Given the description of an element on the screen output the (x, y) to click on. 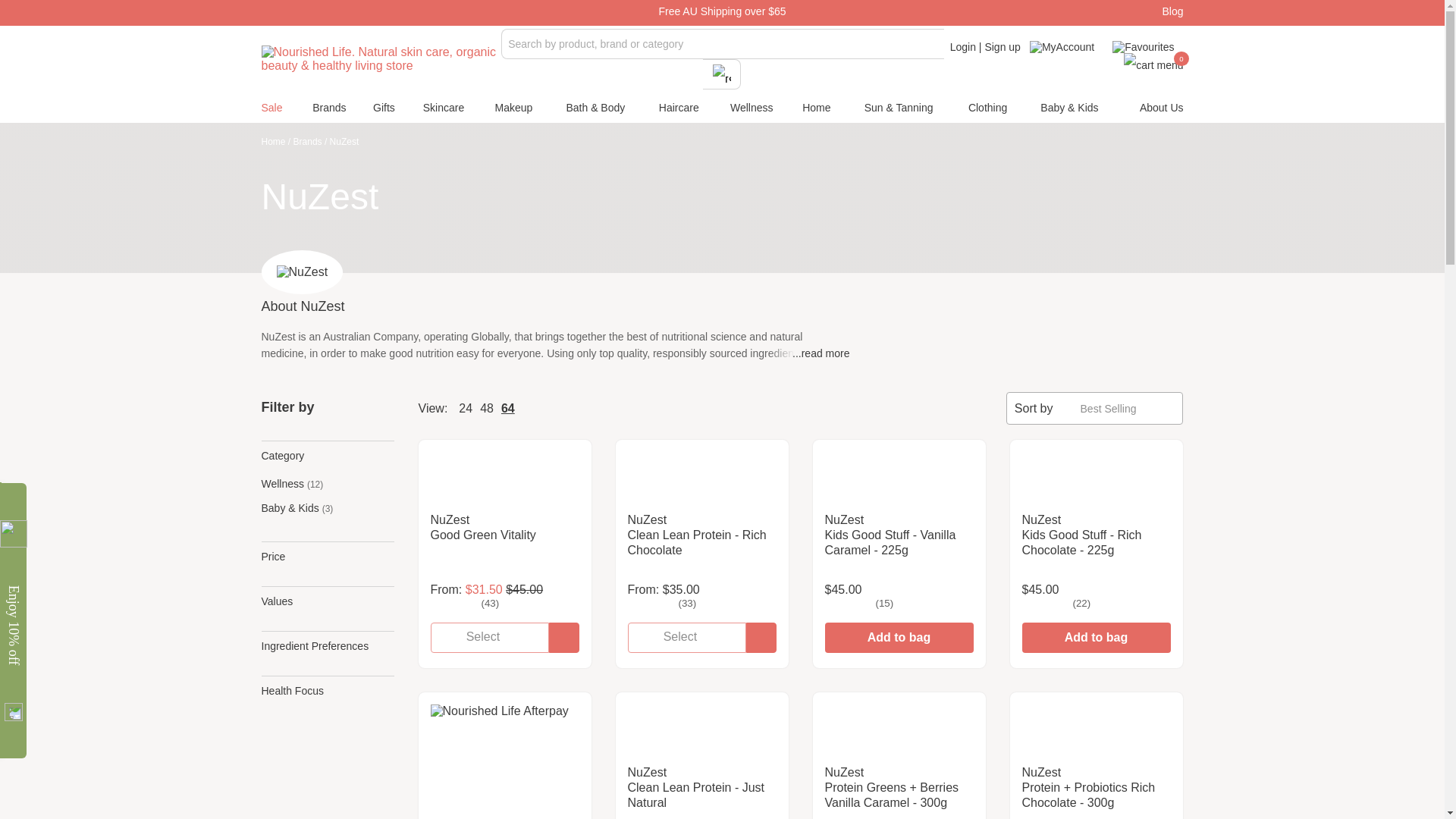
Good Green Vitality (504, 482)
Home (815, 111)
Sign up (1002, 46)
Add to bag (899, 637)
Brands (312, 141)
Clean Lean Protein - Rich Chocolate (701, 482)
Makeup (513, 111)
Home (276, 141)
Skincare (443, 111)
Sale (271, 111)
